Given the description of an element on the screen output the (x, y) to click on. 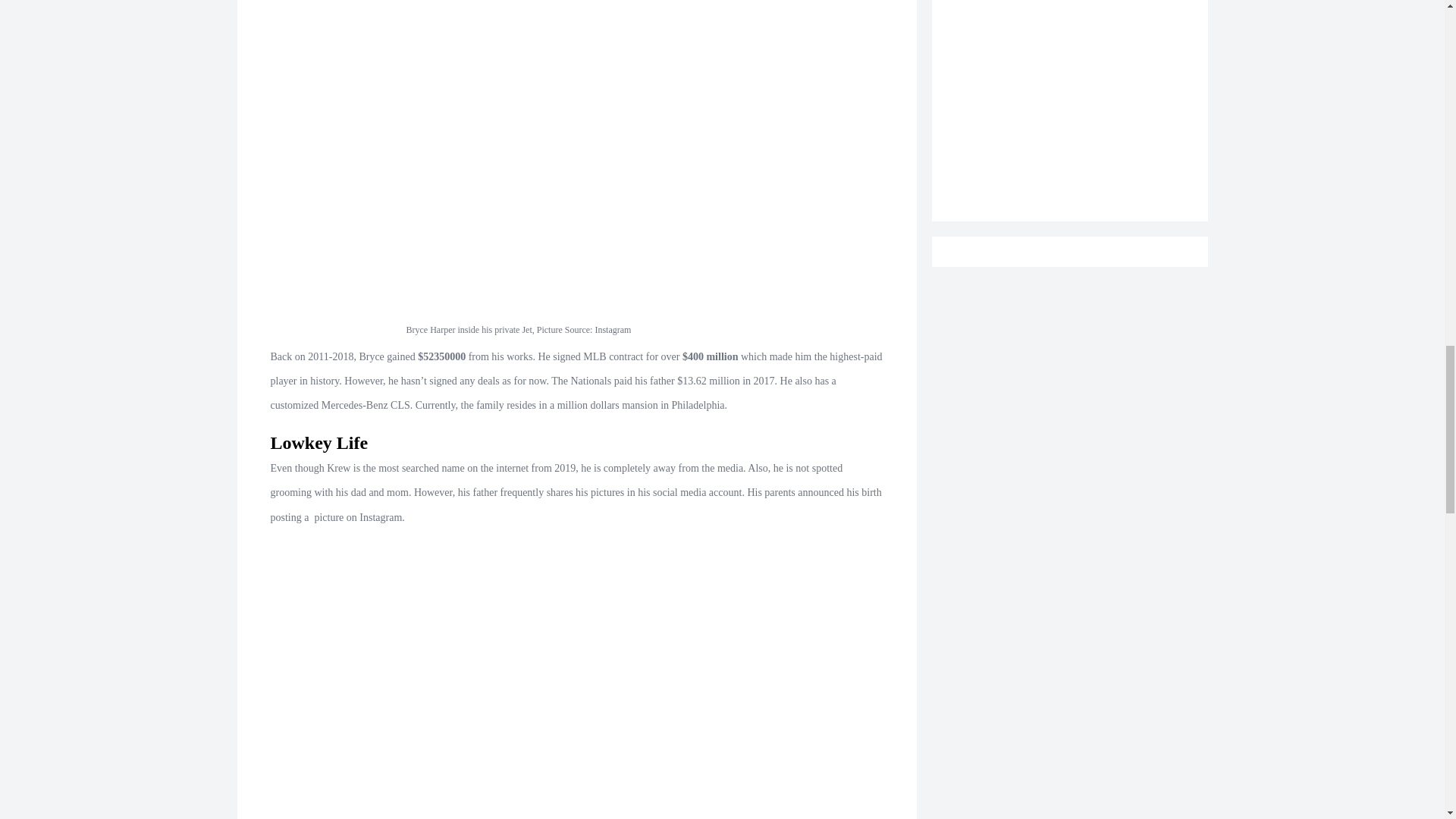
Advertisement (1069, 73)
